Given the description of an element on the screen output the (x, y) to click on. 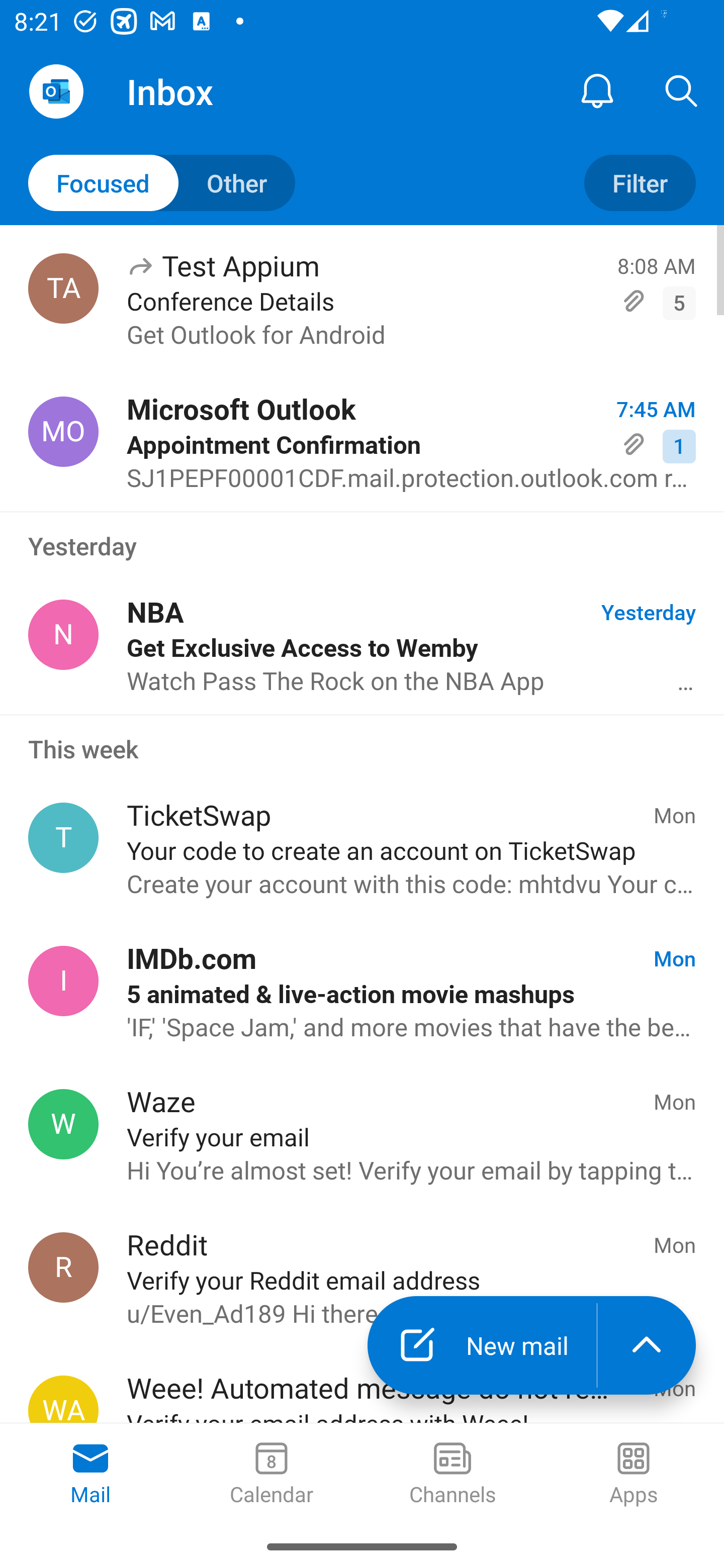
Notification Center (597, 90)
Search, ,  (681, 90)
Open Navigation Drawer (55, 91)
Toggle to other mails (161, 183)
Filter (639, 183)
Test Appium, testappium002@outlook.com (63, 288)
NBA, NBA@email.nba.com (63, 633)
TicketSwap, info@ticketswap.com (63, 837)
IMDb.com, do-not-reply@imdb.com (63, 980)
Waze, noreply@waze.com (63, 1123)
Reddit, noreply@reddit.com (63, 1267)
New mail (481, 1344)
launch the extended action menu (646, 1344)
Calendar (271, 1474)
Channels (452, 1474)
Apps (633, 1474)
